Given the description of an element on the screen output the (x, y) to click on. 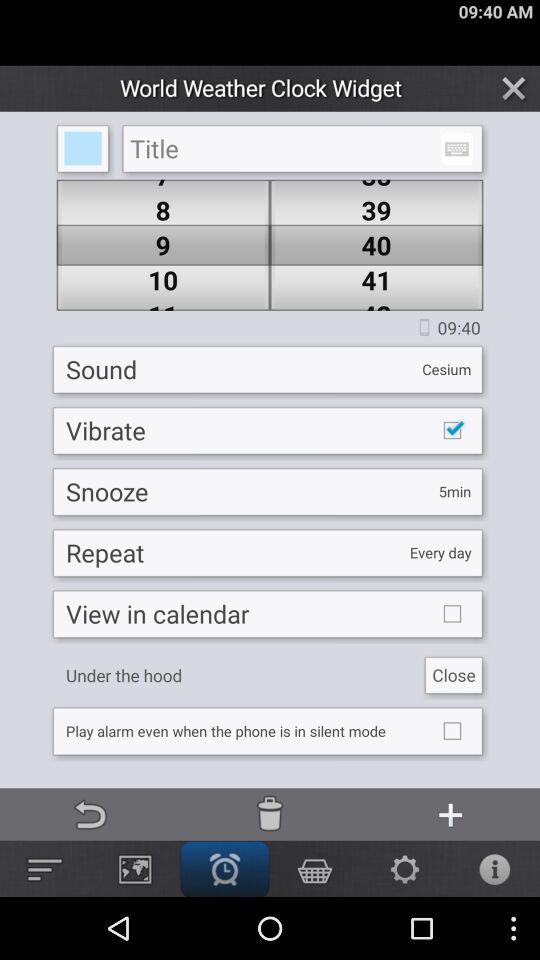
open keyboard (456, 148)
